Given the description of an element on the screen output the (x, y) to click on. 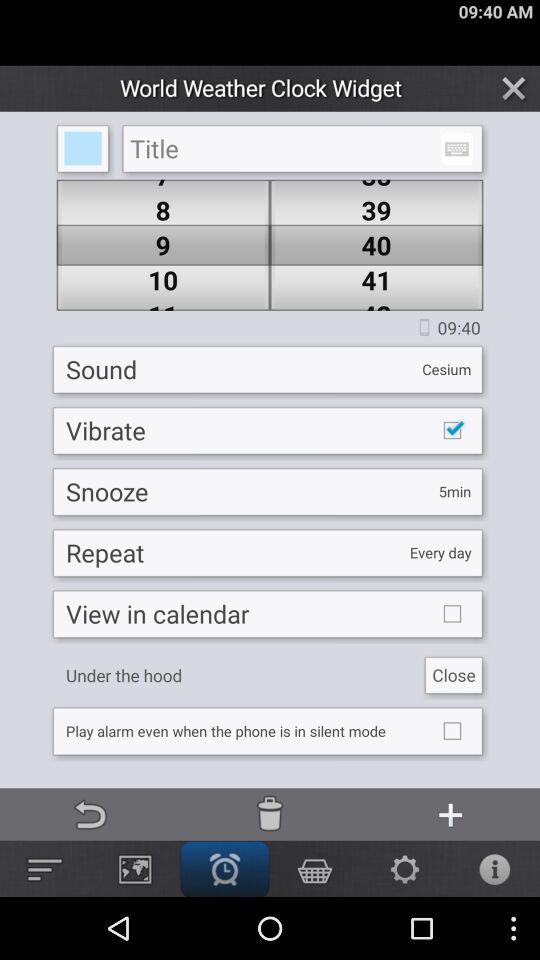
open keyboard (456, 148)
